Given the description of an element on the screen output the (x, y) to click on. 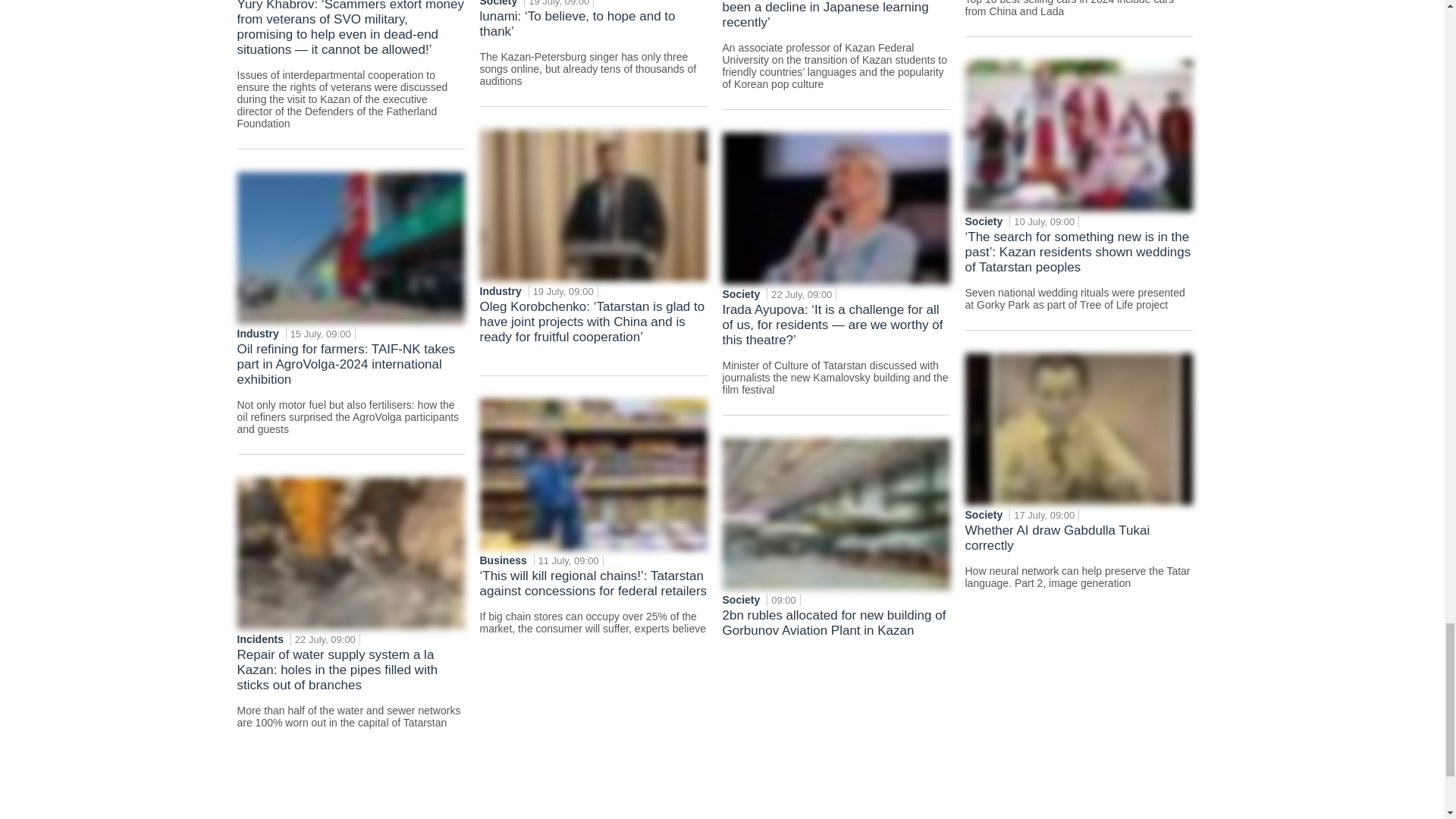
Incidents (260, 639)
Industry (258, 333)
